Given the description of an element on the screen output the (x, y) to click on. 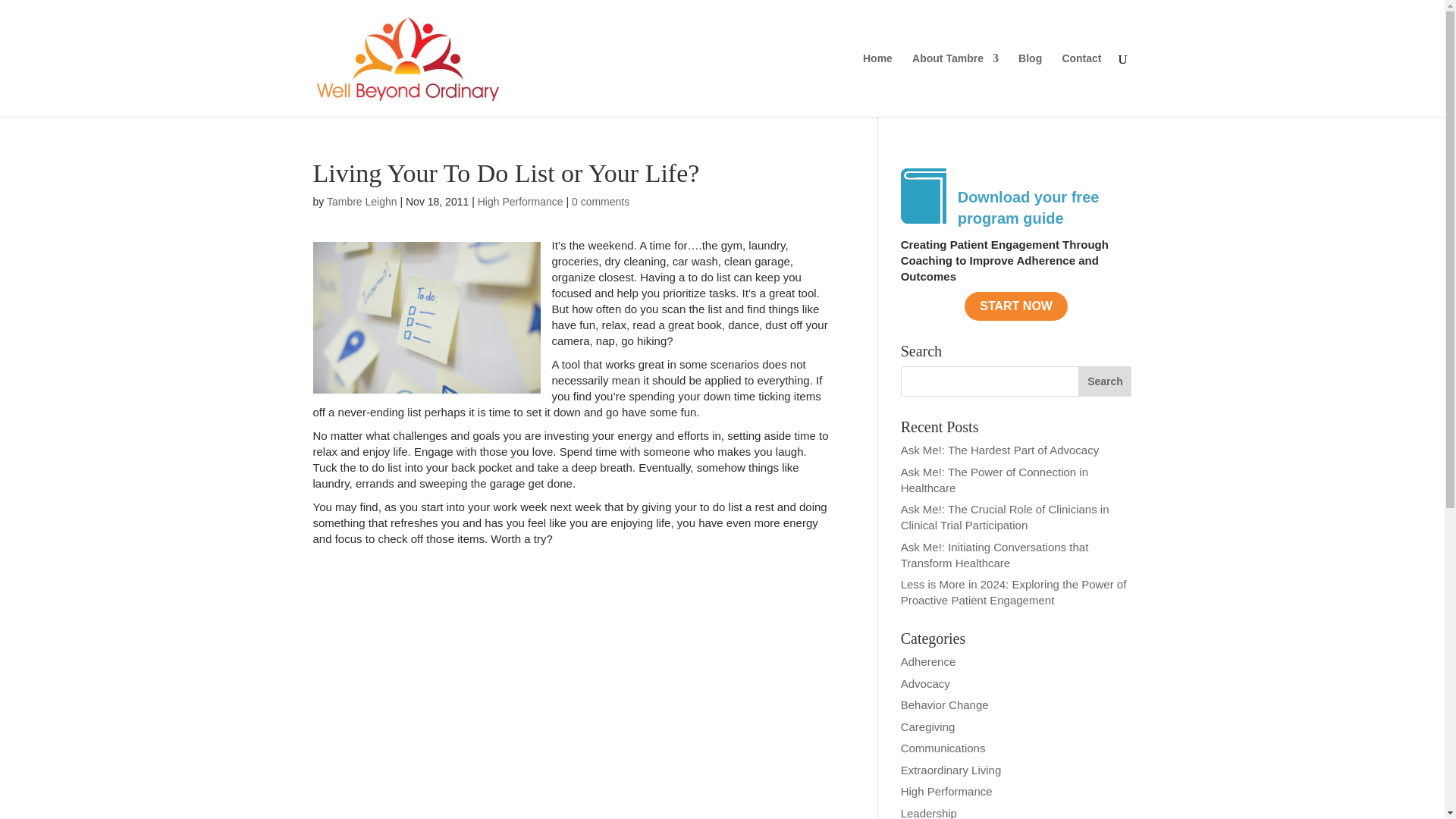
High Performance (520, 201)
About Tambre (955, 85)
0 comments (600, 201)
Adherence (928, 661)
Posts by Tambre Leighn (361, 201)
Leadership (928, 812)
Ask Me!: The Power of Connection in Healthcare (994, 480)
Extraordinary Living (951, 768)
